Given the description of an element on the screen output the (x, y) to click on. 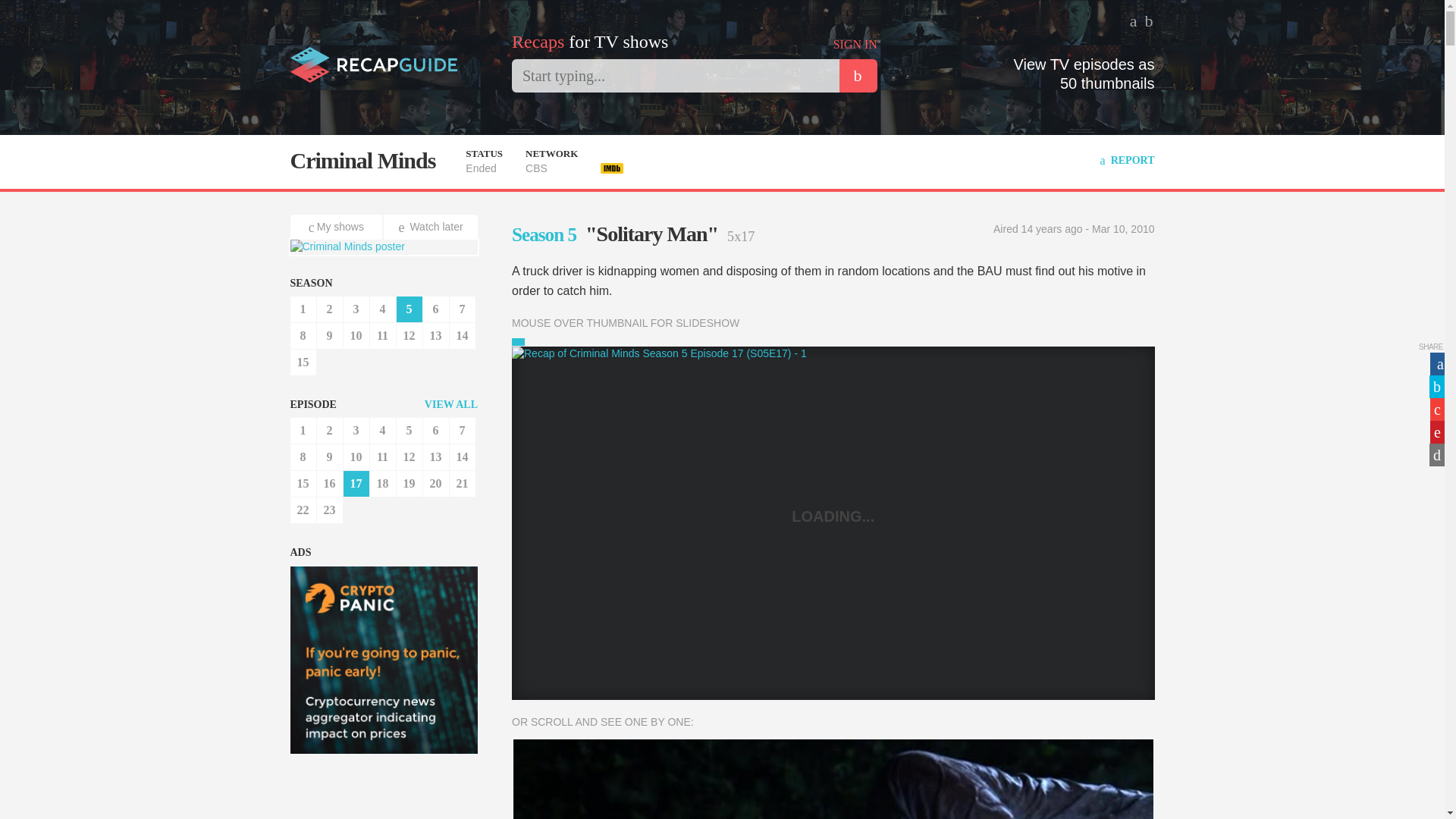
6 (435, 430)
Add to My shows (336, 226)
REPORT (1127, 160)
My shows (336, 226)
2 (329, 430)
4 (382, 309)
12 (409, 335)
15 (302, 362)
Watch later (430, 226)
SIGN IN (854, 43)
4 (382, 430)
5 (409, 309)
8 (302, 335)
7 (461, 309)
9 (329, 335)
